Given the description of an element on the screen output the (x, y) to click on. 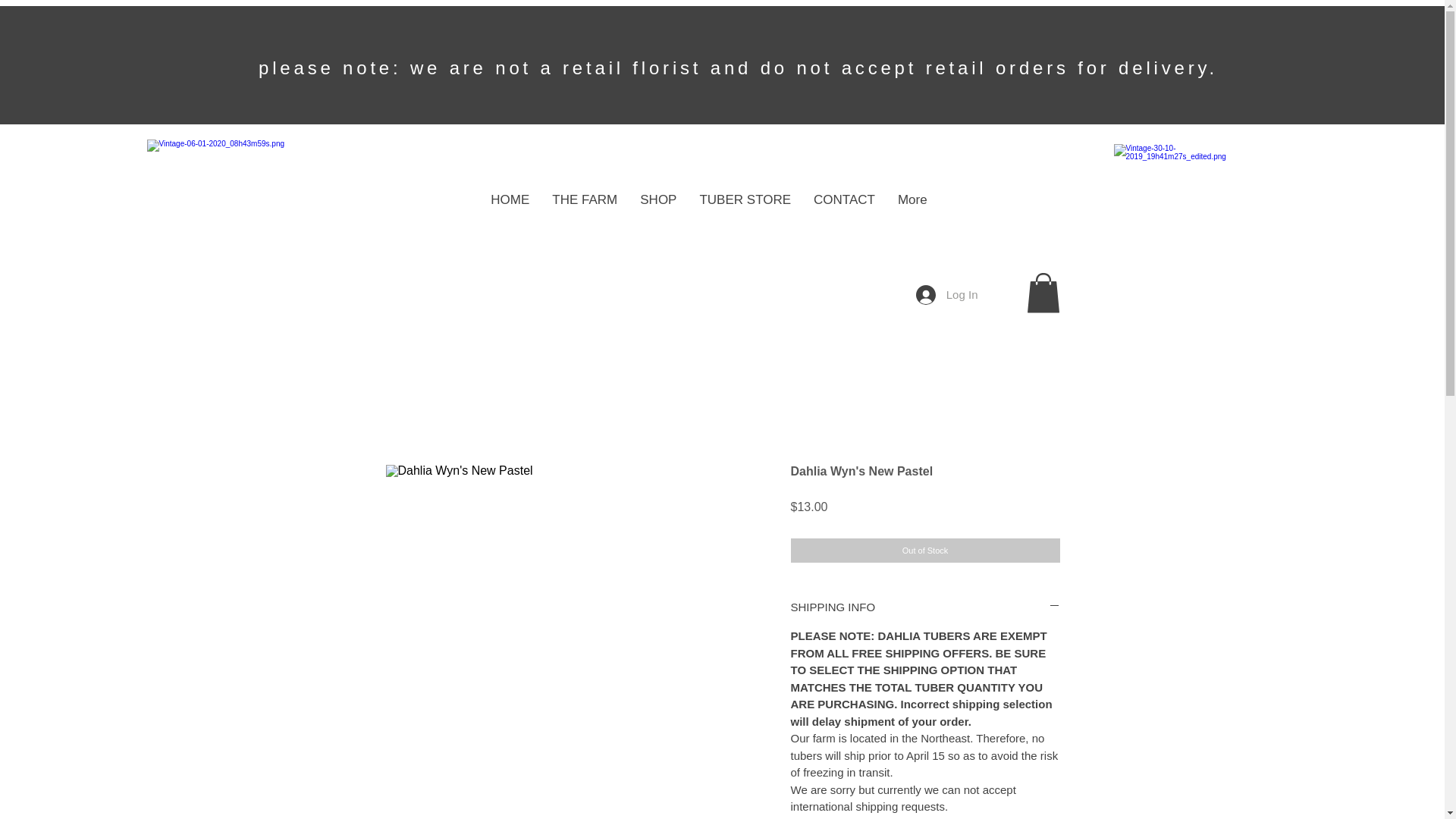
Log In (946, 294)
CONTACT (844, 209)
HOME (509, 209)
THE FARM (584, 209)
TUBER STORE (744, 209)
Out of Stock (924, 550)
SHIPPING INFO (924, 606)
